Given the description of an element on the screen output the (x, y) to click on. 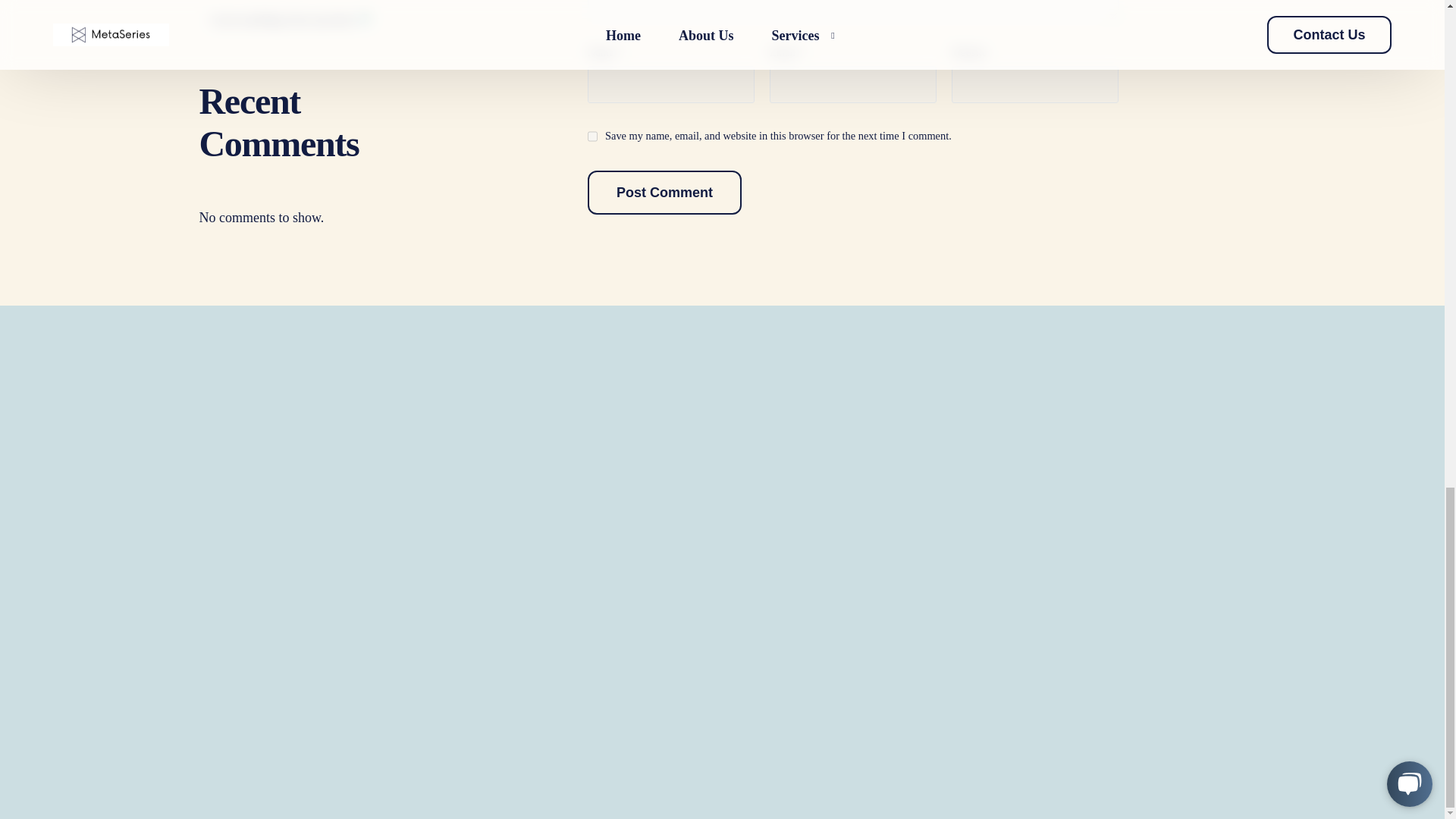
Post Comment (664, 198)
Post Comment (664, 192)
